Given the description of an element on the screen output the (x, y) to click on. 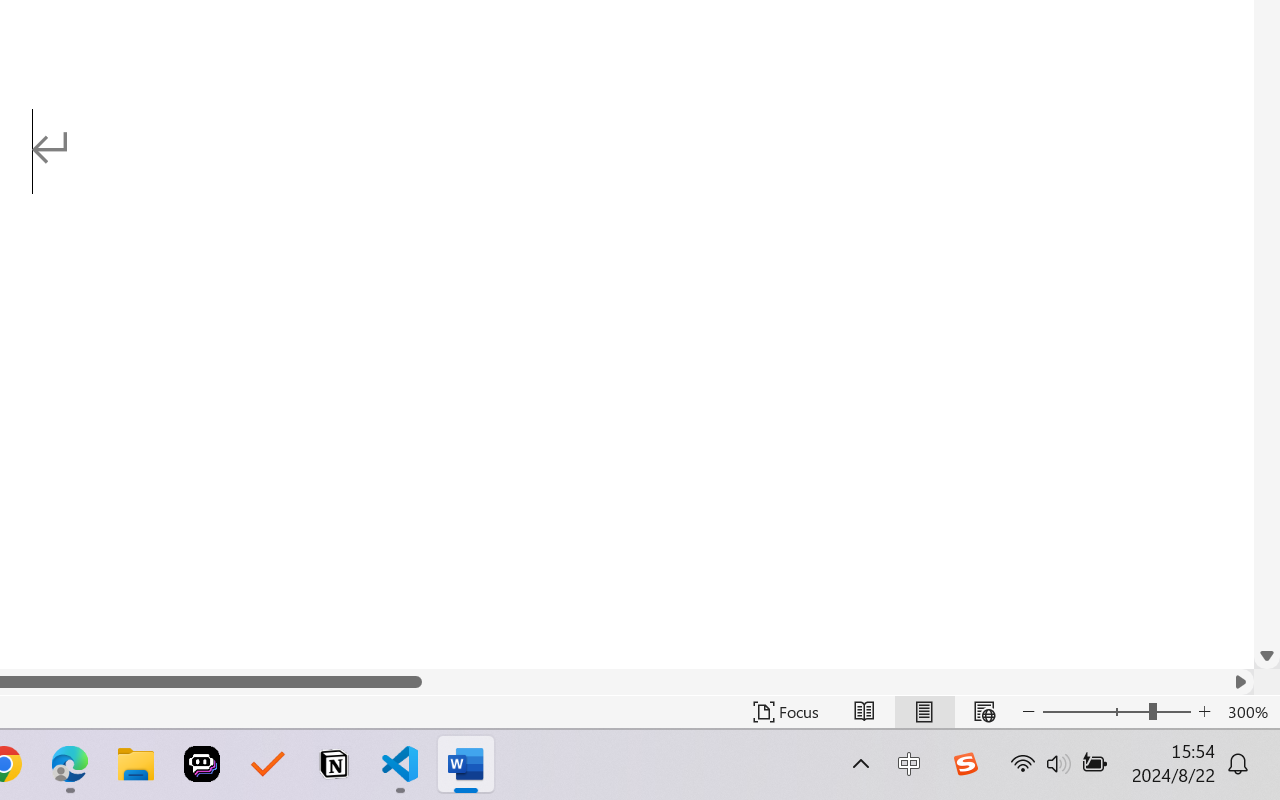
Focus  (786, 712)
Web Layout (984, 712)
Class: Image (965, 764)
Page right (824, 681)
Zoom (1116, 712)
Zoom In (1204, 712)
Zoom Out (1095, 712)
Read Mode (864, 712)
Column right (1240, 681)
Zoom 300% (1249, 712)
Print Layout (924, 712)
Line down (1267, 655)
